Given the description of an element on the screen output the (x, y) to click on. 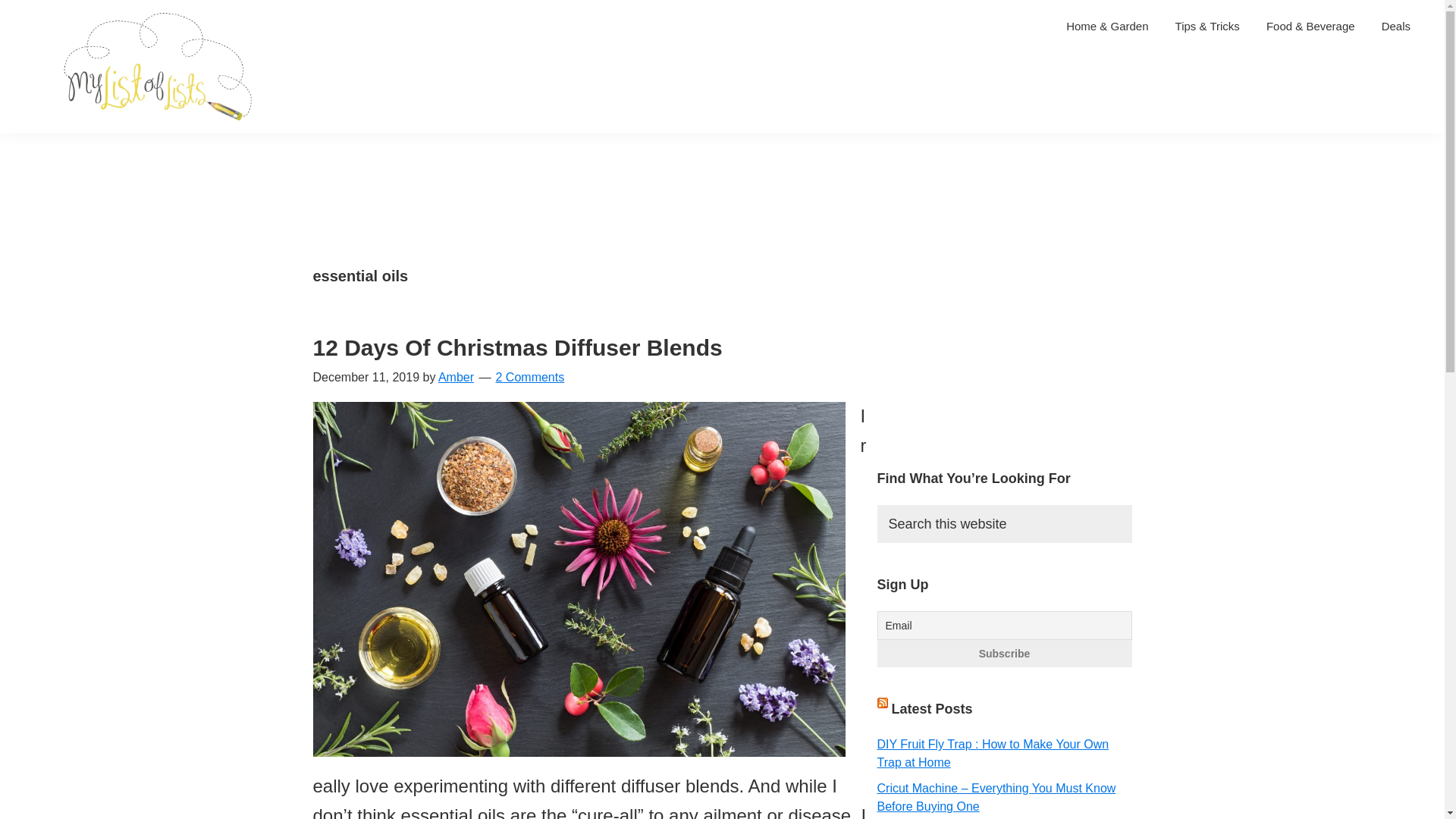
12 Days Of Christmas Diffuser Blends (517, 347)
Subscribe (1003, 653)
Amber (456, 377)
2 Comments (530, 377)
Deals (1396, 25)
